Given the description of an element on the screen output the (x, y) to click on. 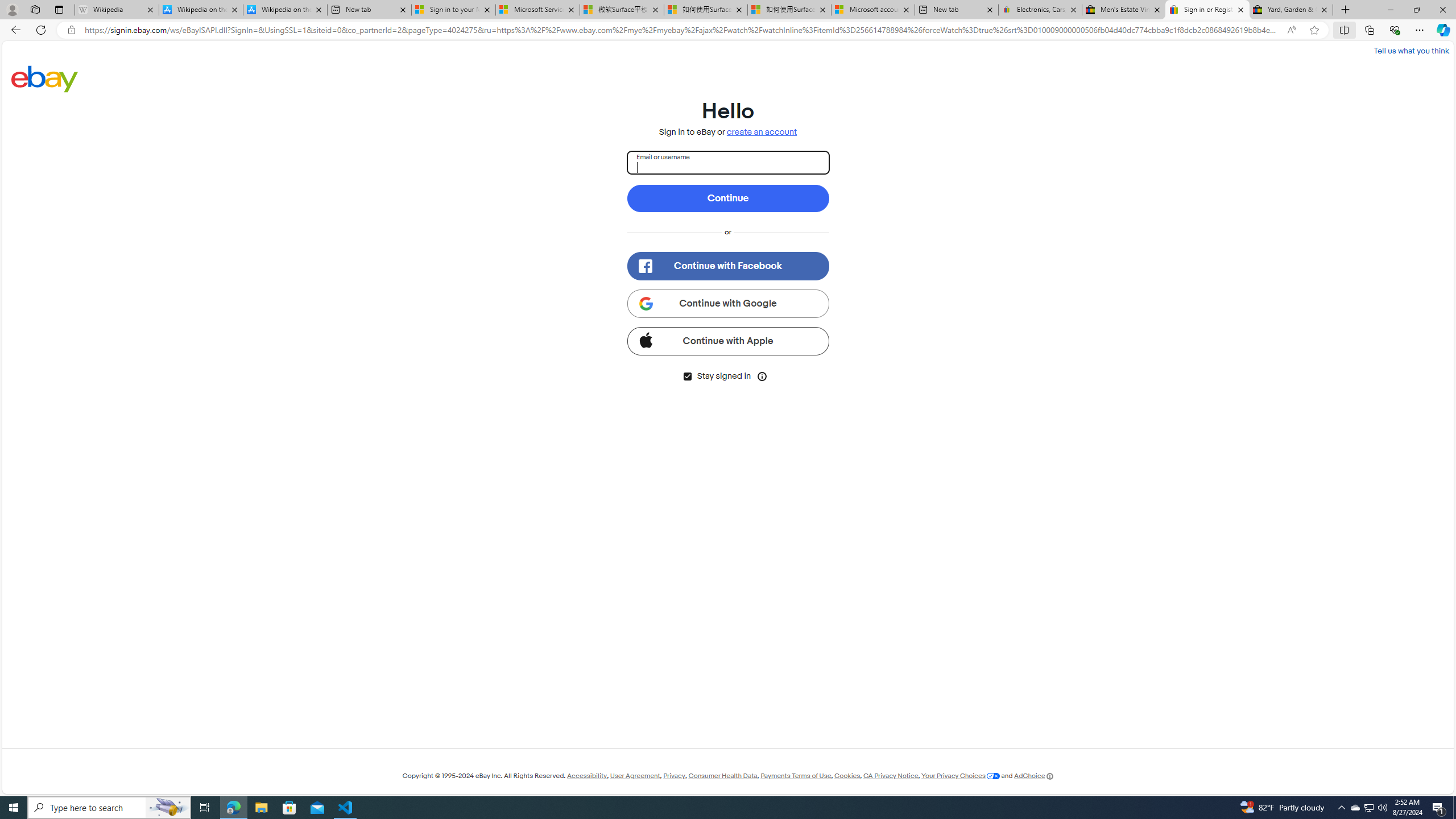
Tell us what you think - Link opens in a new window (1410, 50)
Consumer Health Data (722, 775)
Class: ggl-icon (645, 303)
Email or username (727, 162)
Yard, Garden & Outdoor Living (1291, 9)
Continue (727, 198)
Continue with Apple (727, 340)
Your Privacy Choices (960, 775)
Microsoft account | Account Checkup (873, 9)
Sign in or Register | eBay (1206, 9)
